Given the description of an element on the screen output the (x, y) to click on. 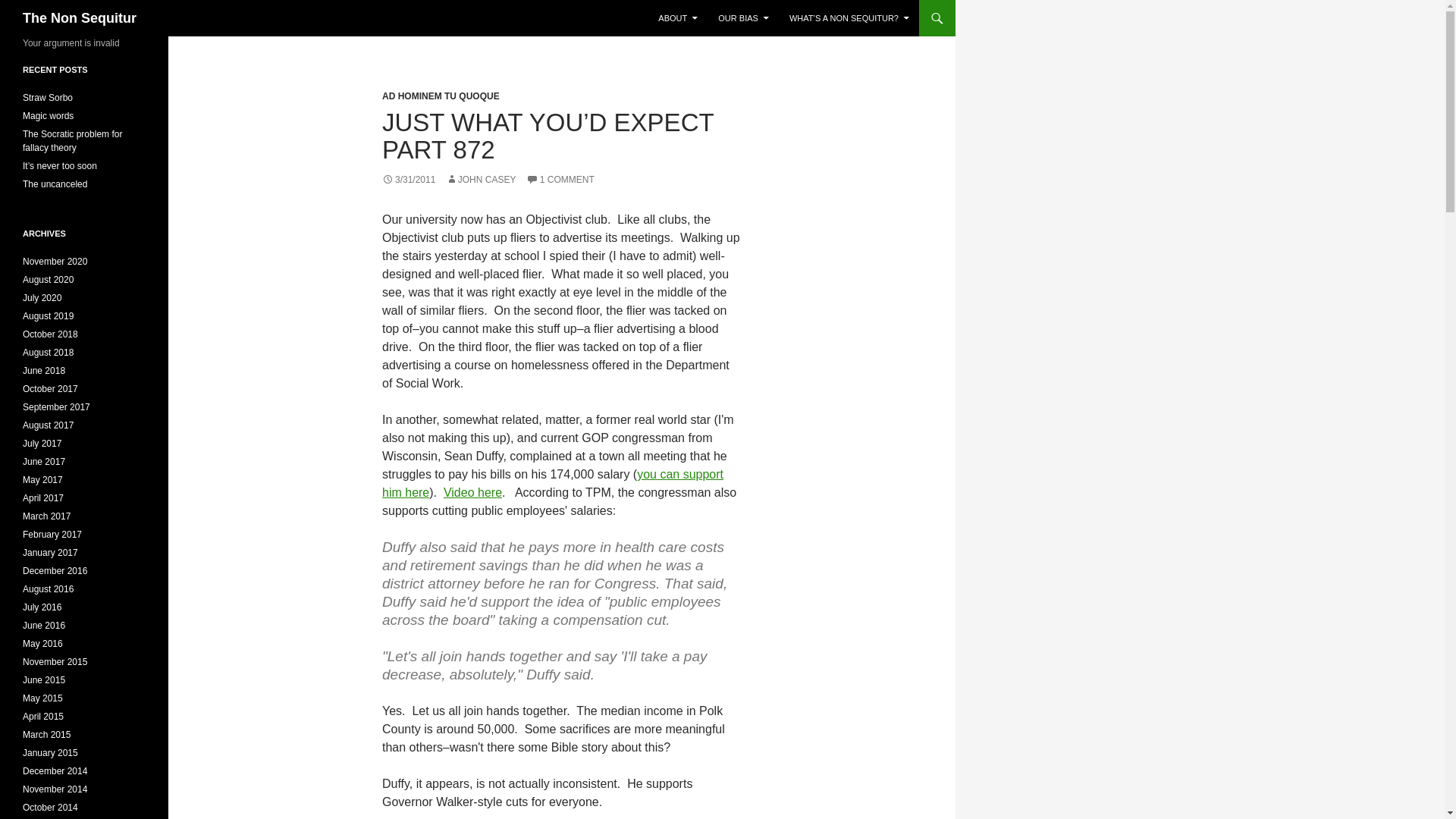
AD HOMINEM TU QUOQUE (440, 95)
The uncanceled (55, 184)
OUR BIAS (743, 18)
1 COMMENT (559, 179)
Video here (473, 492)
November 2020 (55, 261)
The Non Sequitur (79, 18)
ABOUT (677, 18)
October 2018 (50, 334)
you can support him here (552, 482)
Magic words (48, 115)
August 2019 (48, 316)
July 2020 (42, 297)
JOHN CASEY (480, 179)
The Socratic problem for fallacy theory (72, 140)
